Given the description of an element on the screen output the (x, y) to click on. 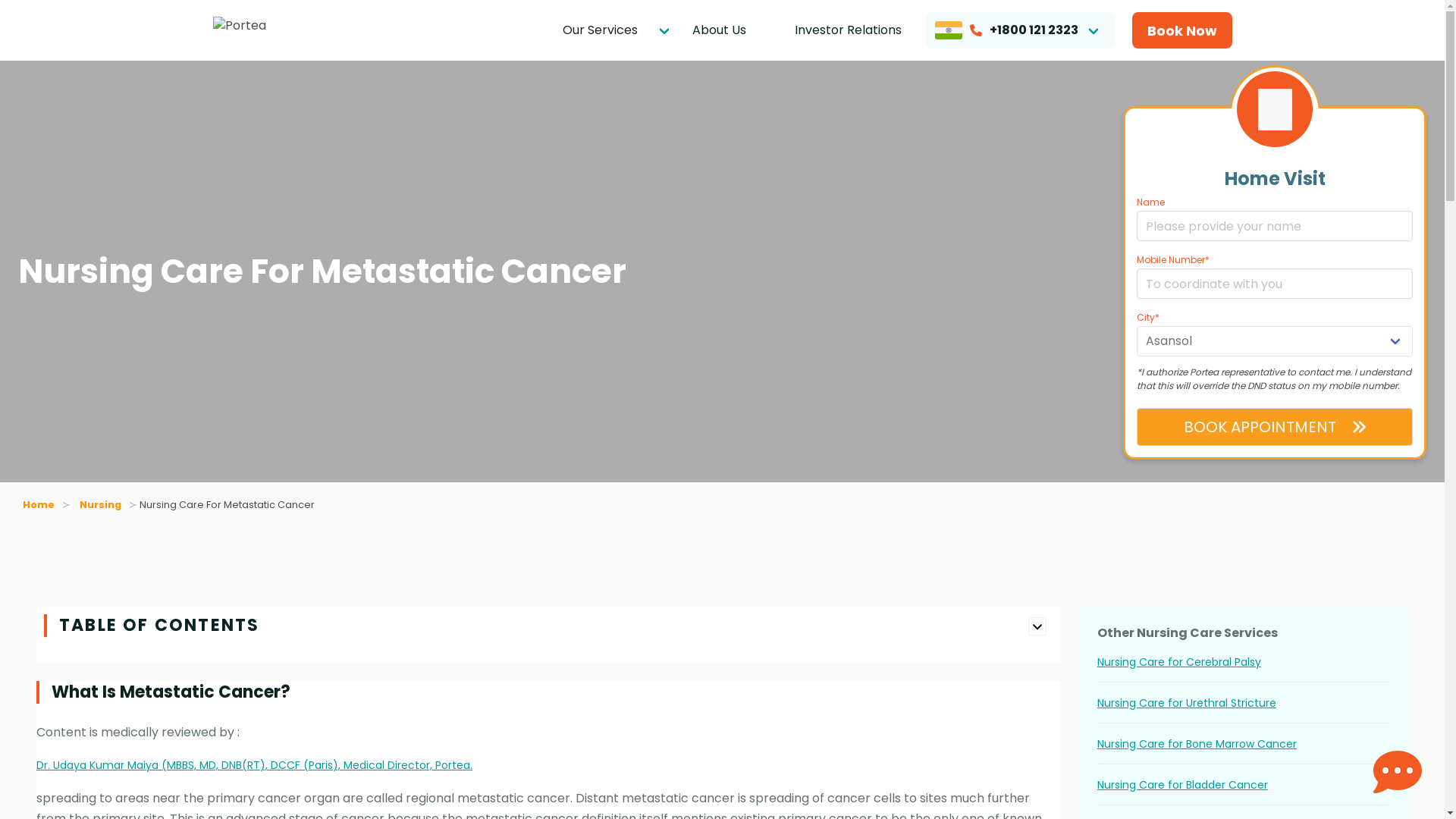
Investor Relations (848, 29)
BOOK APPOINTMENT (1274, 426)
Book Now (1181, 30)
About Us (718, 29)
Nursing (100, 504)
Home (42, 504)
